Given the description of an element on the screen output the (x, y) to click on. 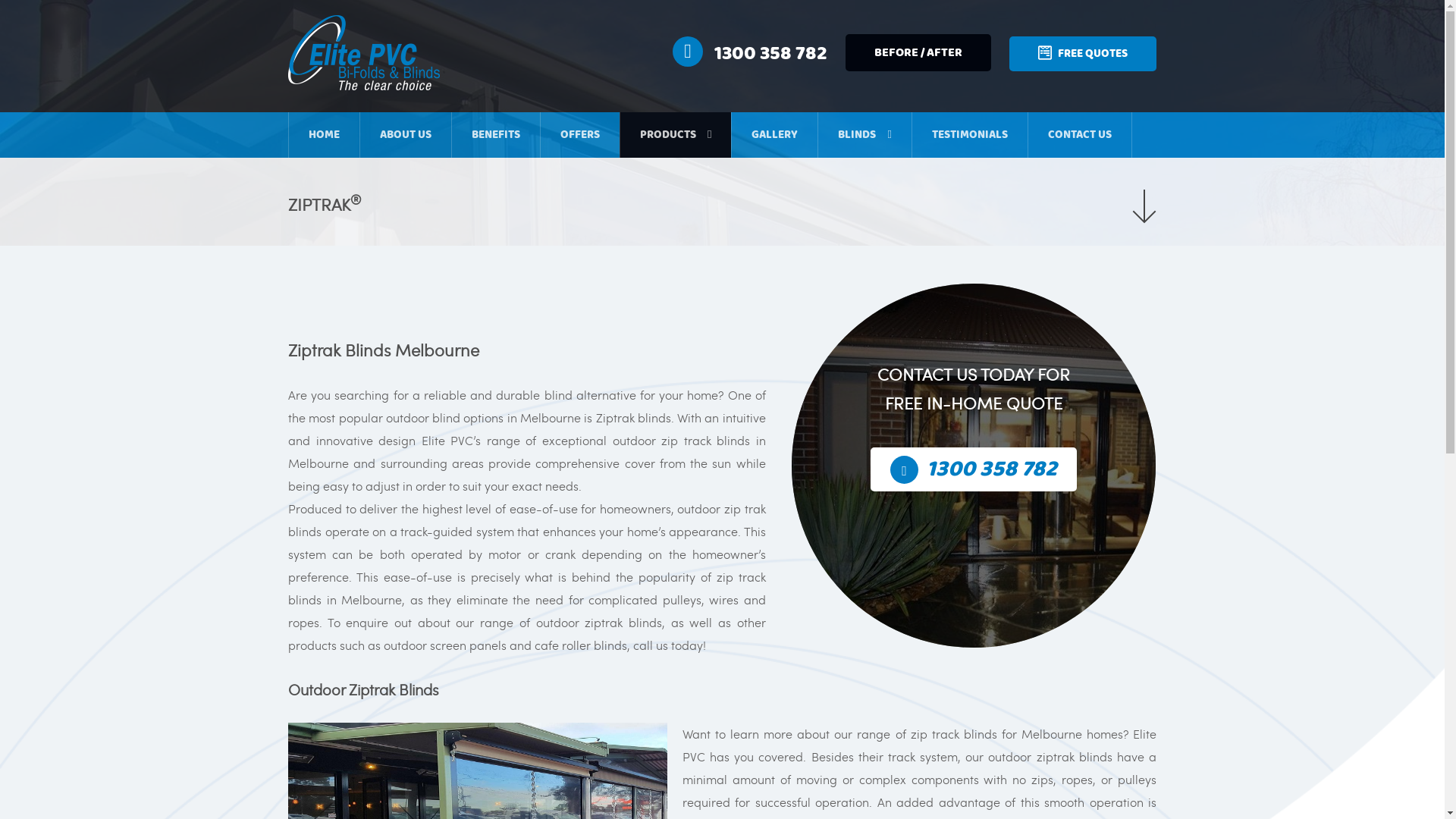
BEFORE / AFTER Element type: text (918, 52)
cafe roller blinds Element type: text (580, 644)
outdoor screen panels Element type: text (444, 644)
ABOUT US Element type: text (405, 134)
BLINDS Element type: text (864, 134)
OFFERS Element type: text (579, 134)
HOME Element type: text (323, 134)
1300 358 782 Element type: text (973, 469)
1300 358 782 Element type: text (749, 53)
FREE QUOTES Element type: text (1082, 53)
TESTIMONIALS Element type: text (969, 134)
GALLERY Element type: text (774, 134)
CONTACT US Element type: text (1079, 134)
outdoor blind Element type: text (422, 417)
PRODUCTS Element type: text (675, 134)
BENEFITS Element type: text (495, 134)
